Given the description of an element on the screen output the (x, y) to click on. 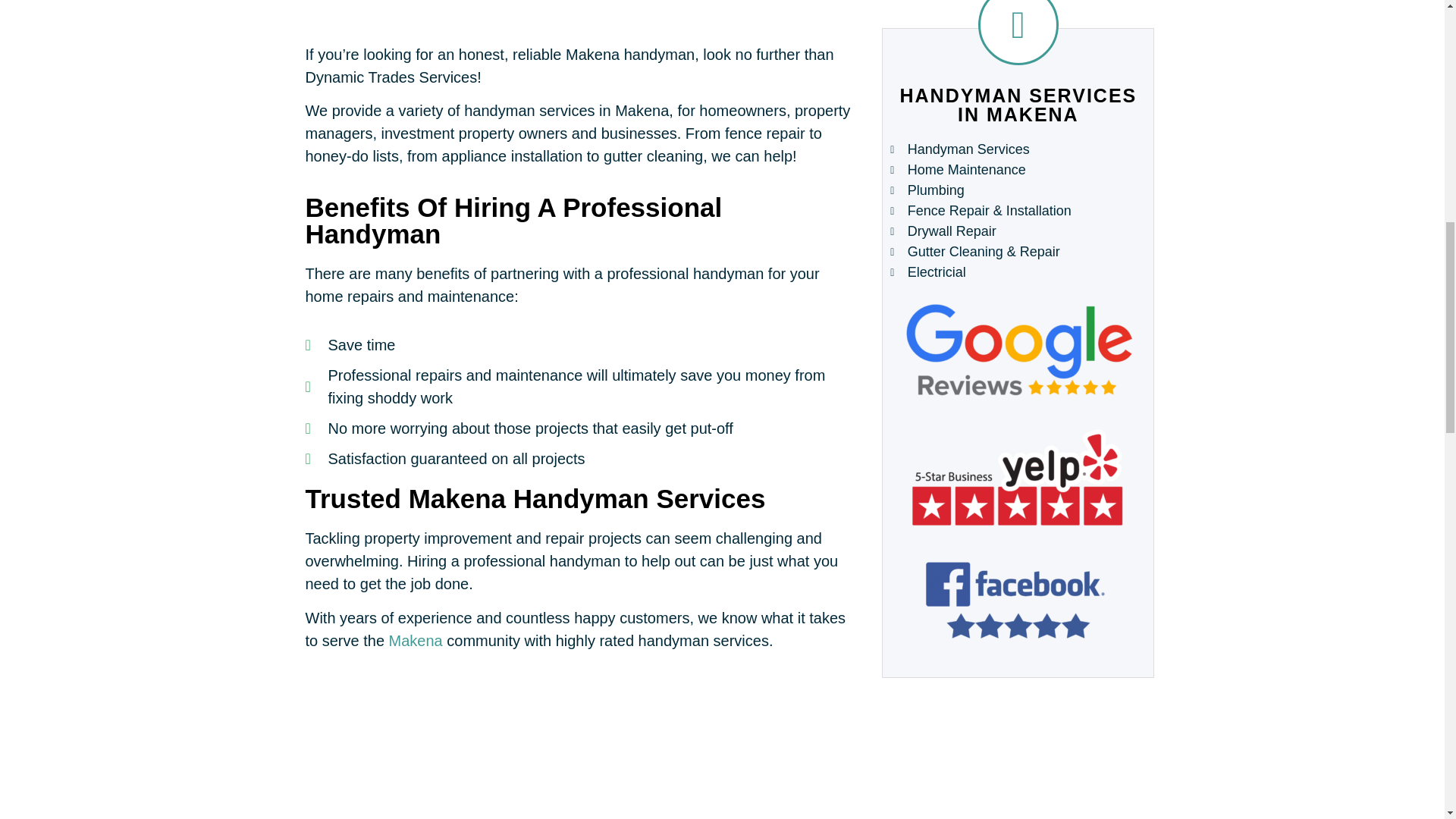
Makena HI (722, 786)
